Given the description of an element on the screen output the (x, y) to click on. 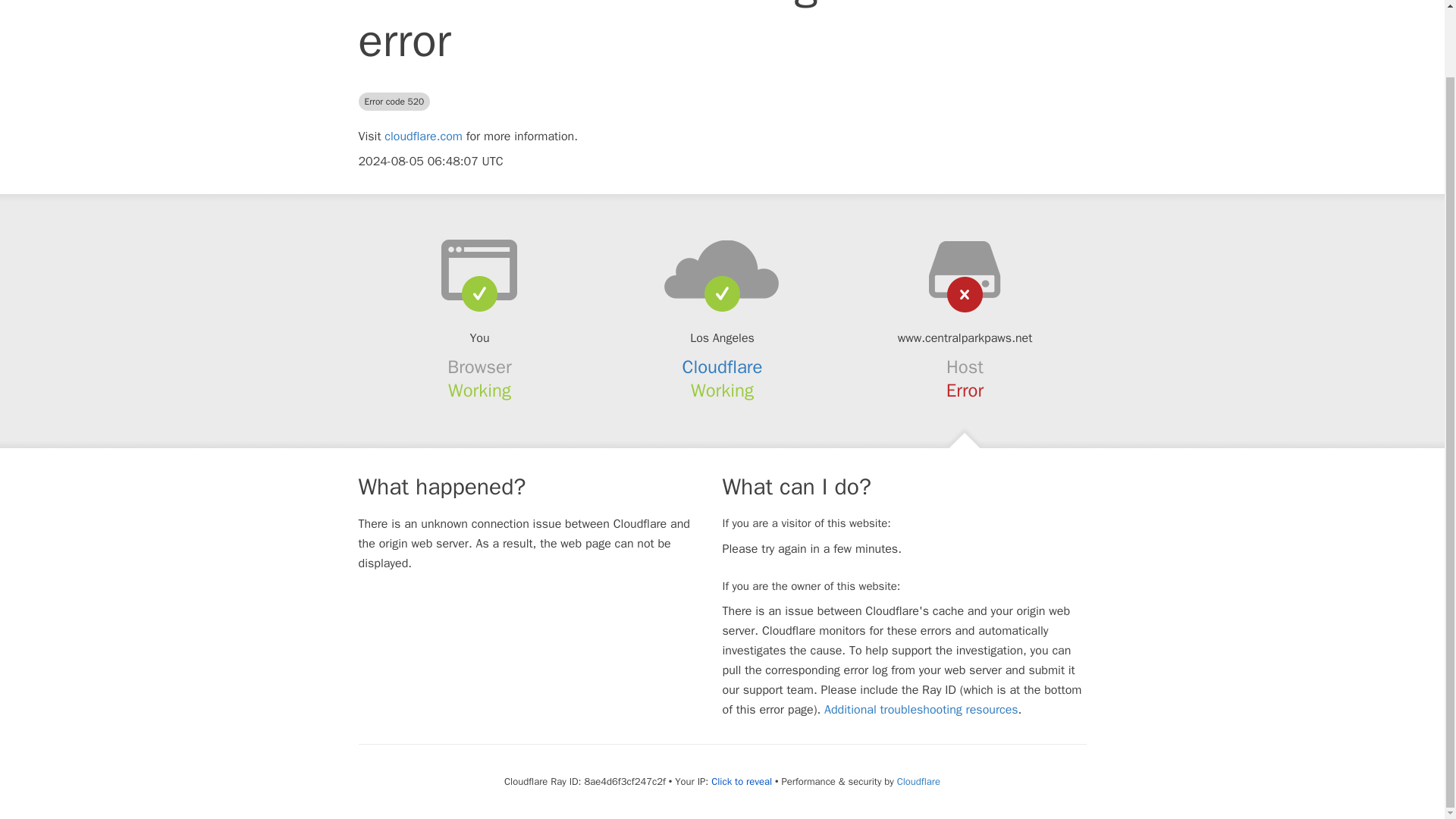
Click to reveal (741, 781)
Cloudflare (722, 366)
cloudflare.com (423, 136)
Additional troubleshooting resources (920, 709)
Cloudflare (918, 780)
